Given the description of an element on the screen output the (x, y) to click on. 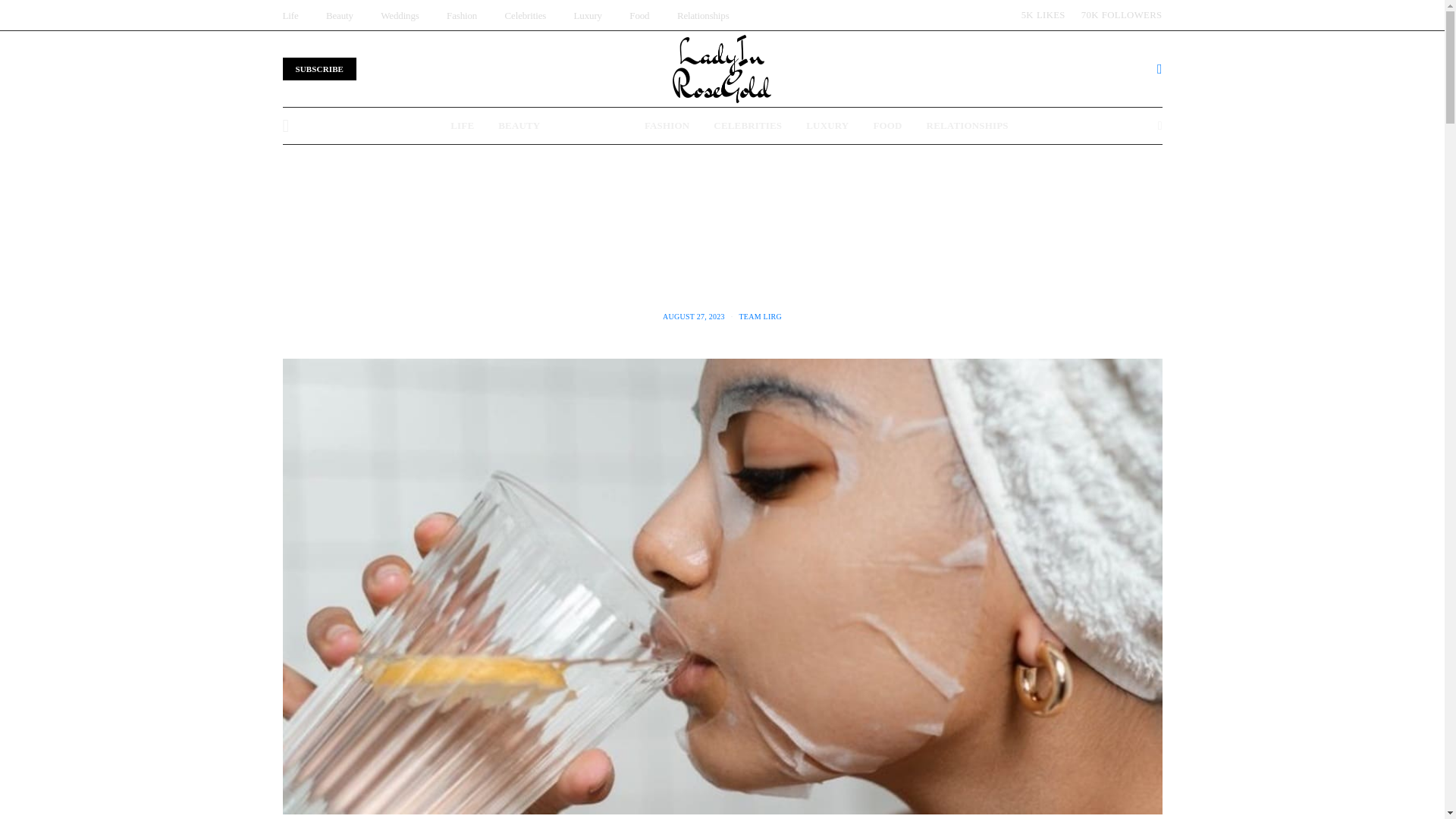
Luxury (587, 15)
Fashion (461, 15)
Life (290, 15)
Weddings (399, 15)
View all posts by Team LIRG (759, 316)
Celebrities (526, 15)
Beauty (339, 15)
